Given the description of an element on the screen output the (x, y) to click on. 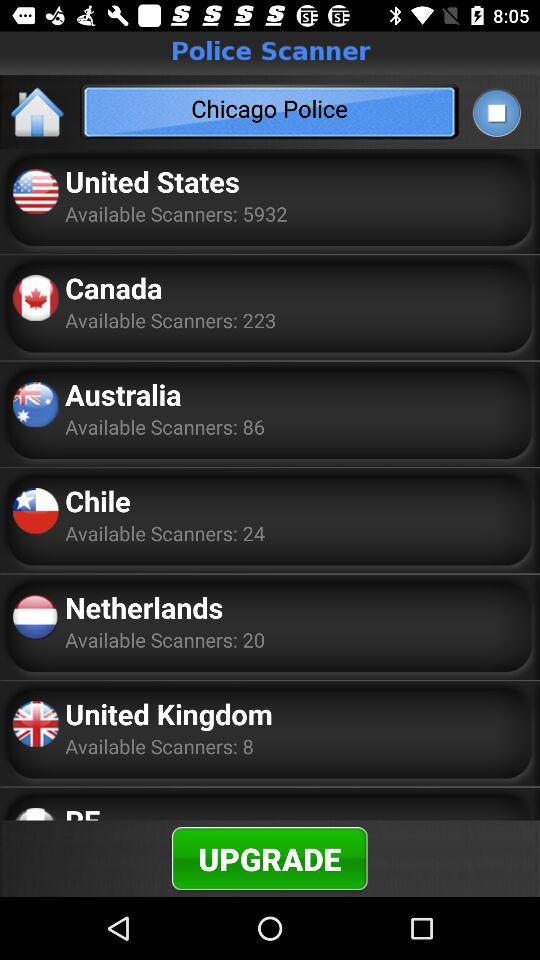
launch the item below available scanners: 8 (82, 810)
